Given the description of an element on the screen output the (x, y) to click on. 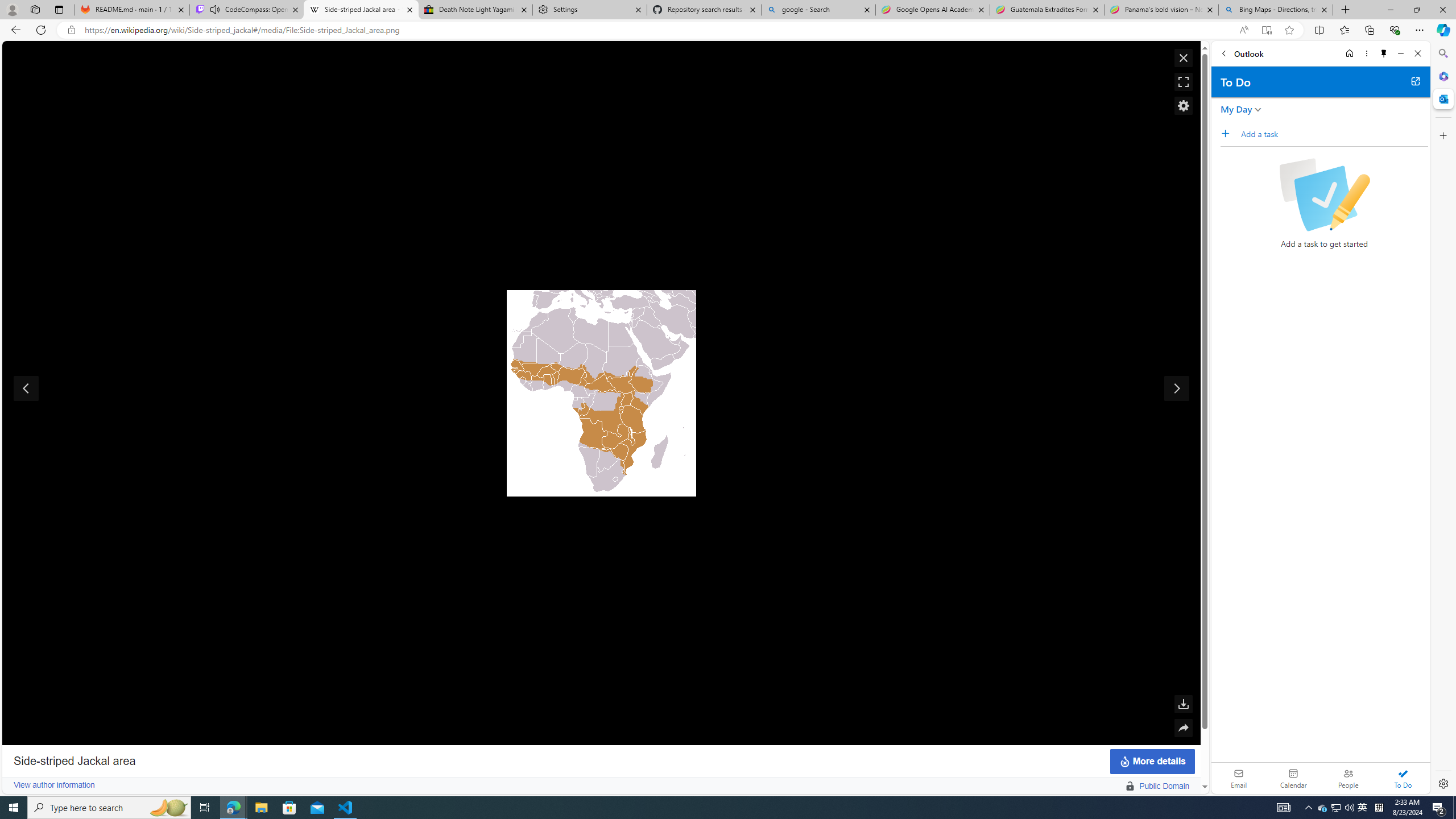
To Do (1402, 777)
Public Domain (1163, 786)
Show in full screen (1183, 81)
Add a task (1228, 133)
My Day (1236, 109)
Close this tool (Esc) (1183, 58)
Checkbox with a pencil (1324, 194)
Side-striped Jackal area - Side-striped jackal - Wikipedia (360, 9)
